Given the description of an element on the screen output the (x, y) to click on. 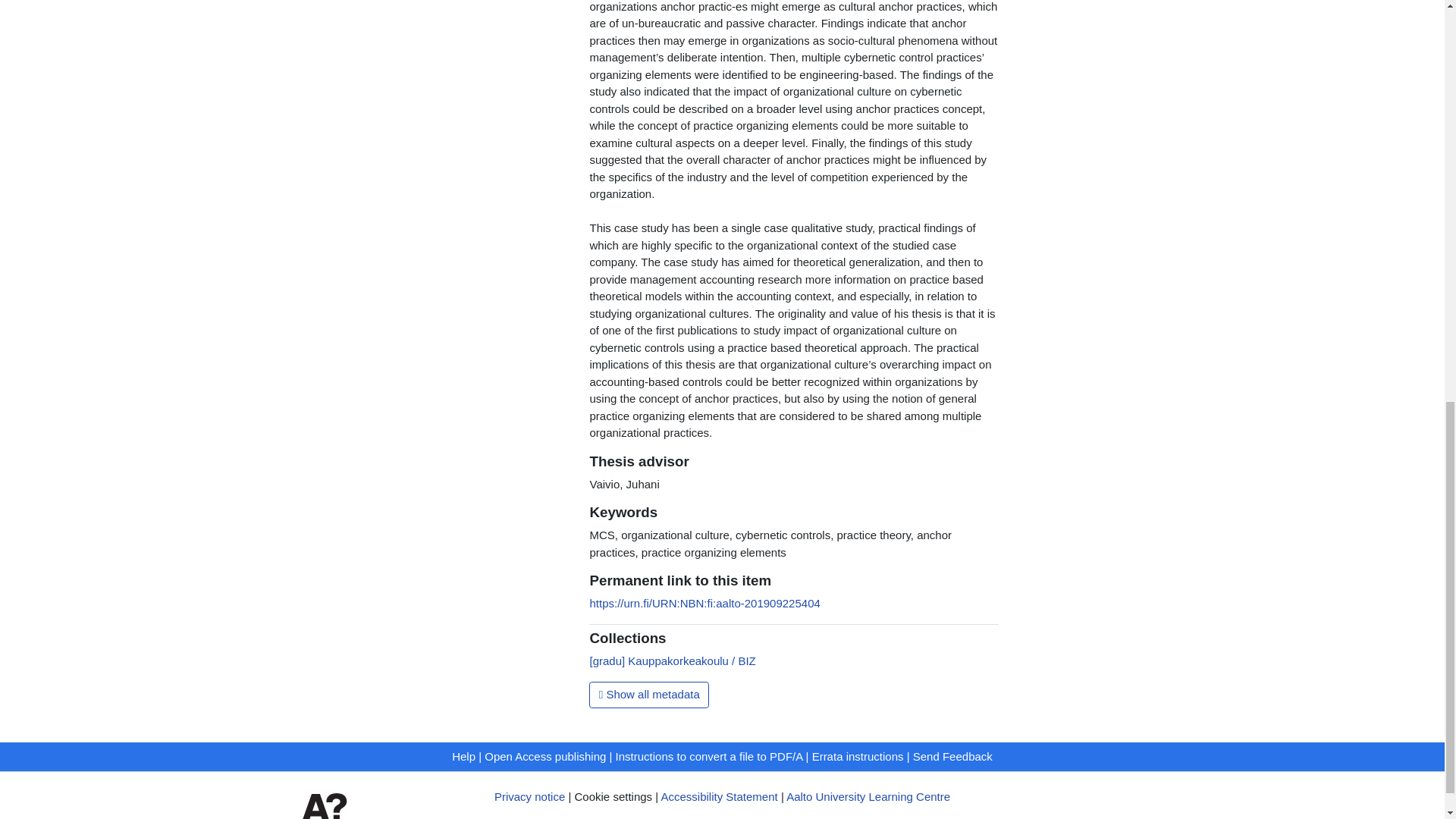
Aalto University Learning Centre (868, 796)
Errata instructions (858, 756)
Show all metadata (649, 694)
Cookie settings (613, 796)
Open Access publishing (544, 756)
Help (463, 756)
Privacy notice (529, 796)
Accessibility Statement (719, 796)
Send Feedback (952, 756)
